Given the description of an element on the screen output the (x, y) to click on. 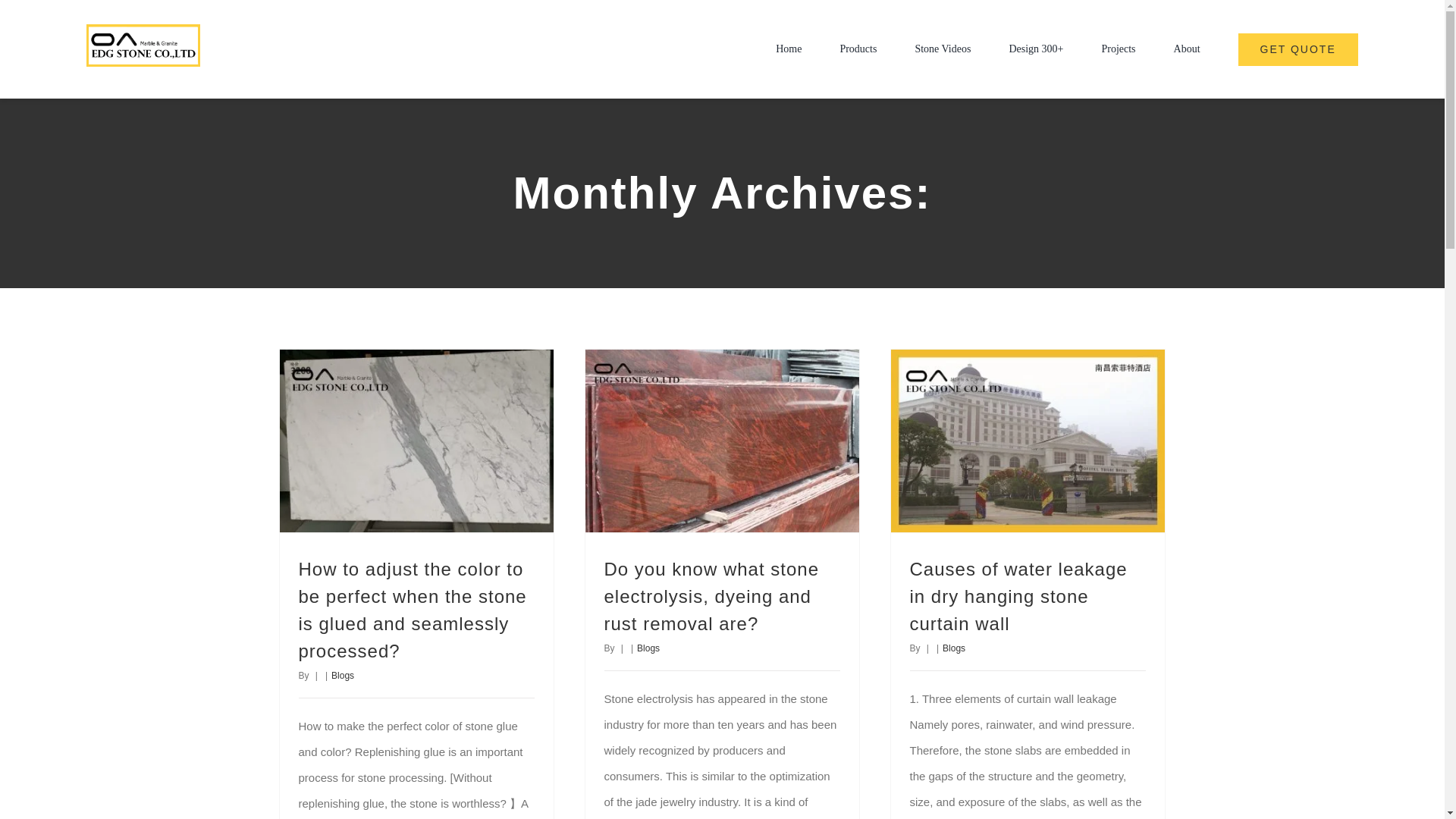
Home (789, 49)
Products (858, 49)
